Given the description of an element on the screen output the (x, y) to click on. 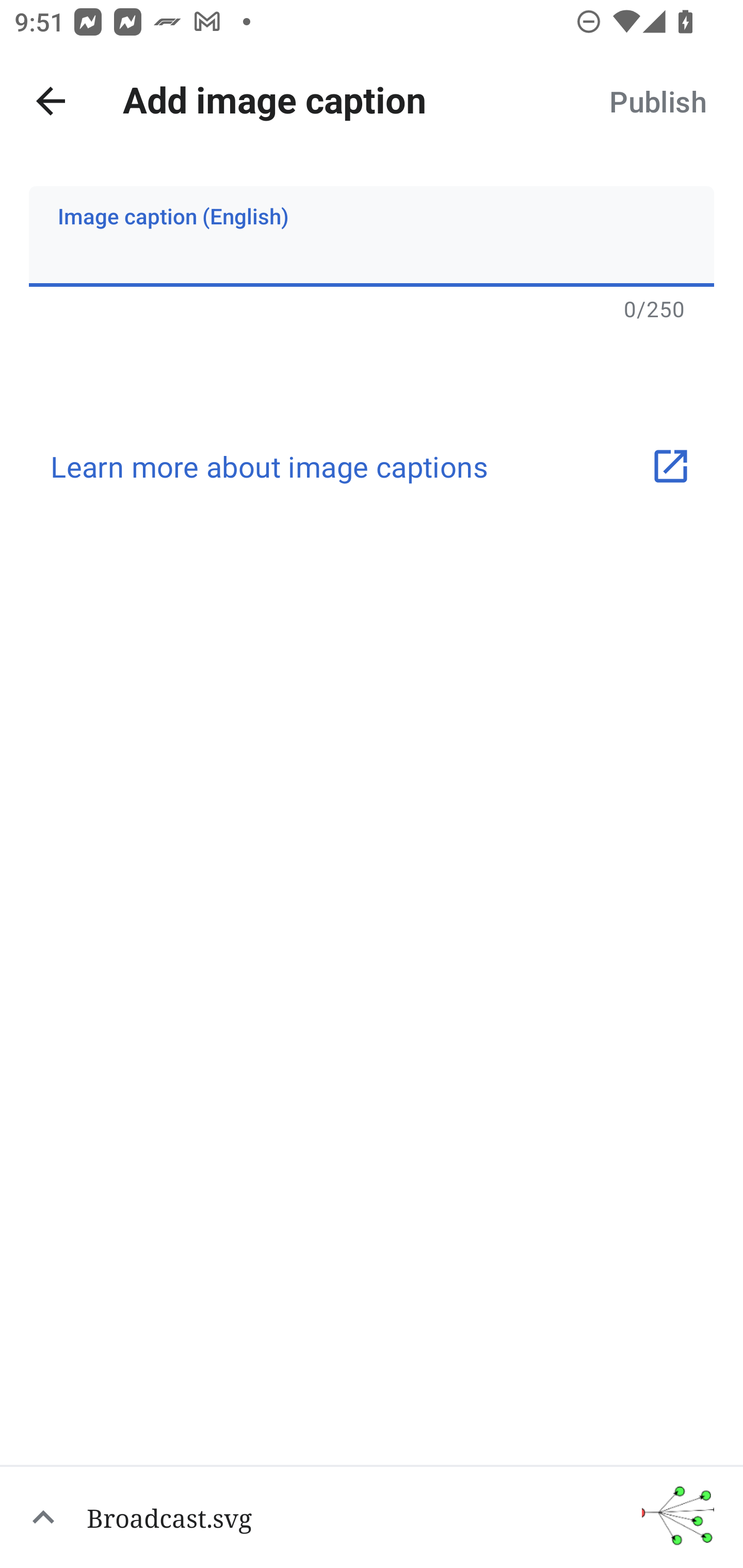
Cancel (50, 101)
Publish (657, 101)
Image caption (English) (371, 236)
Learn more about image captions (371, 466)
Broadcast.svg (371, 1516)
